Given the description of an element on the screen output the (x, y) to click on. 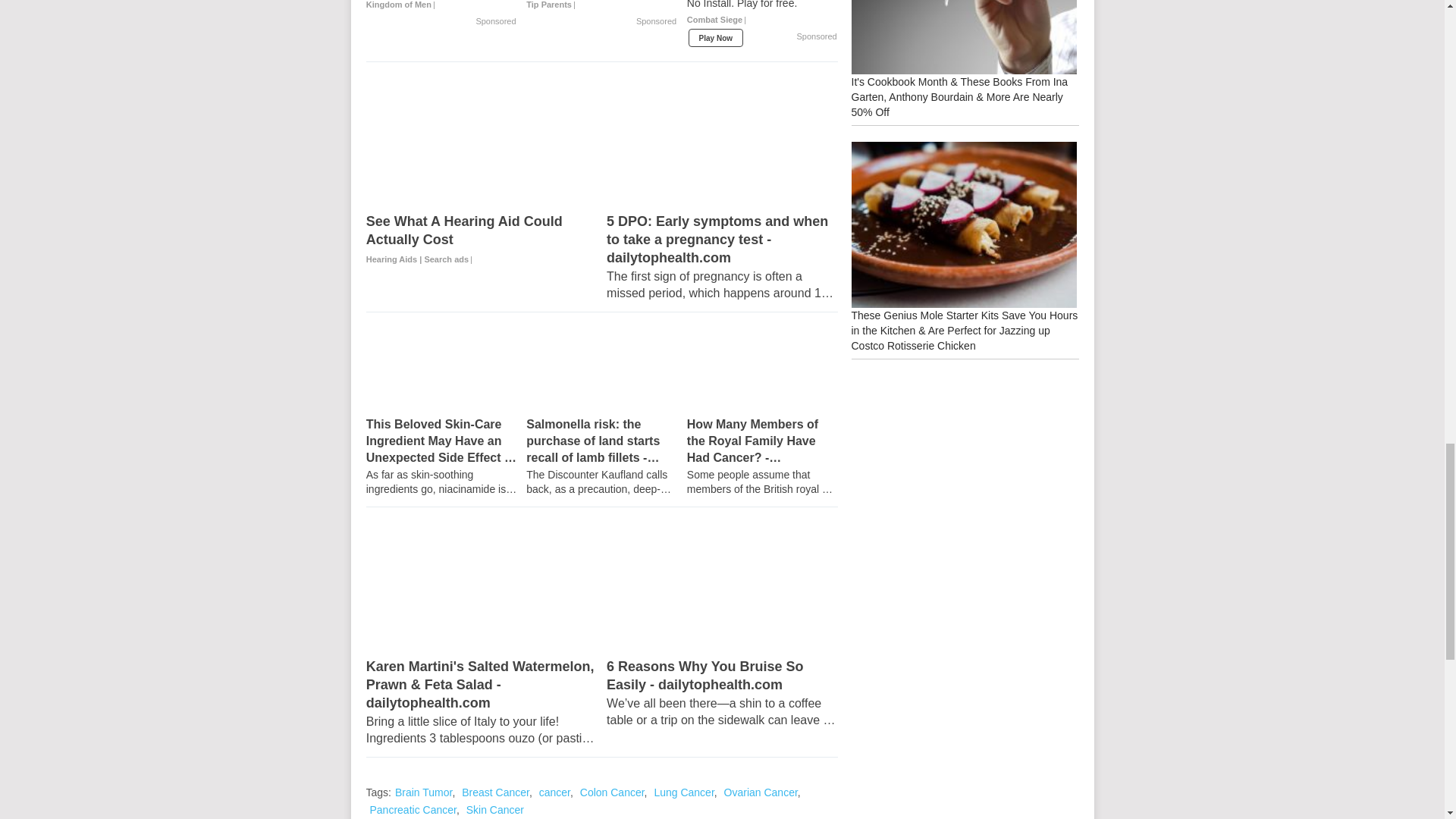
Sponsored (656, 21)
Police didn't see the camera (441, 6)
Play Now (715, 37)
Sponsored (495, 21)
See What A Hearing Aid Could Actually Cost (481, 142)
Sponsored (815, 36)
"Description: No Install. Play for free." (762, 5)
